Given the description of an element on the screen output the (x, y) to click on. 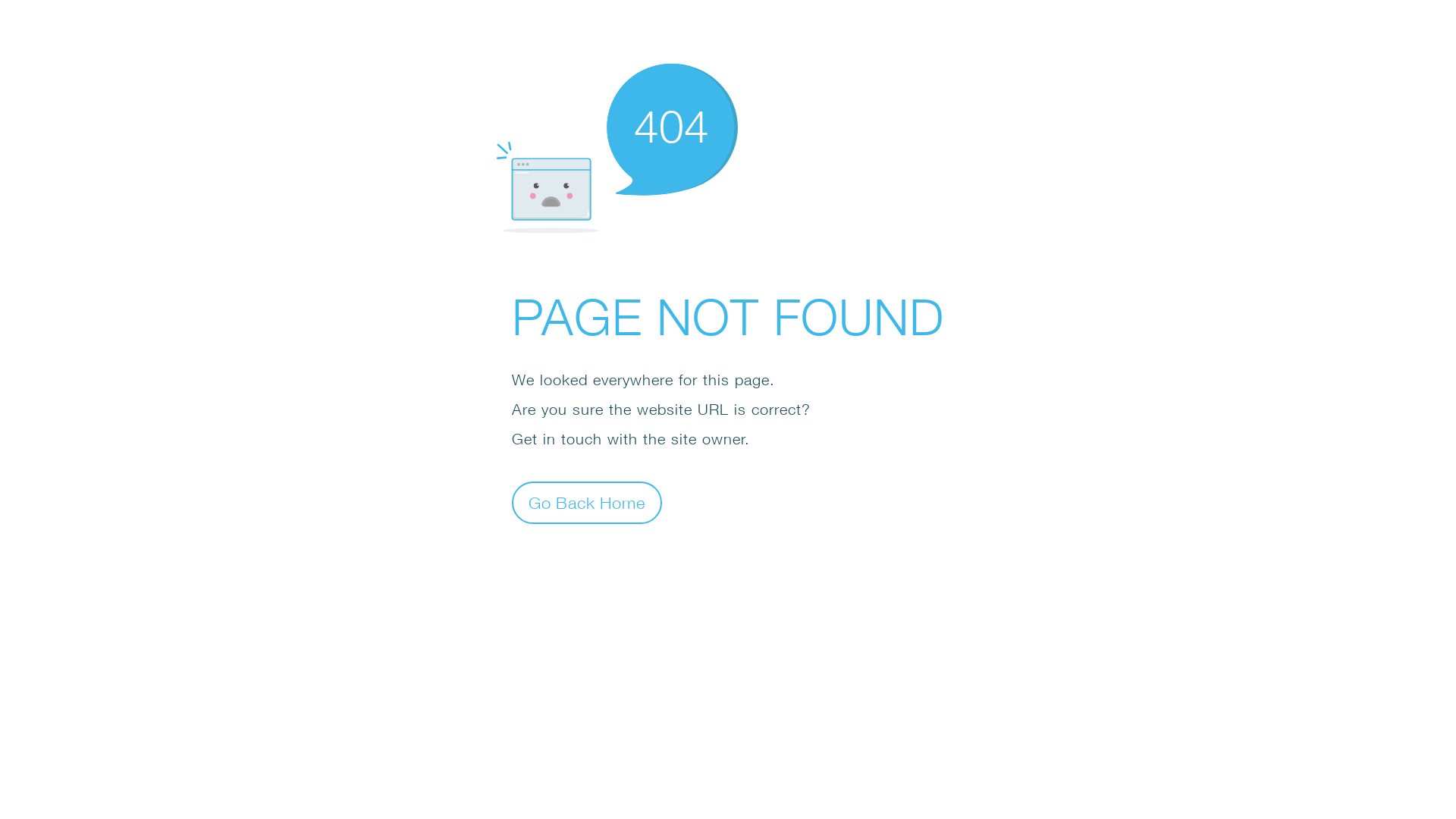
Go Back Home Element type: text (586, 502)
